Given the description of an element on the screen output the (x, y) to click on. 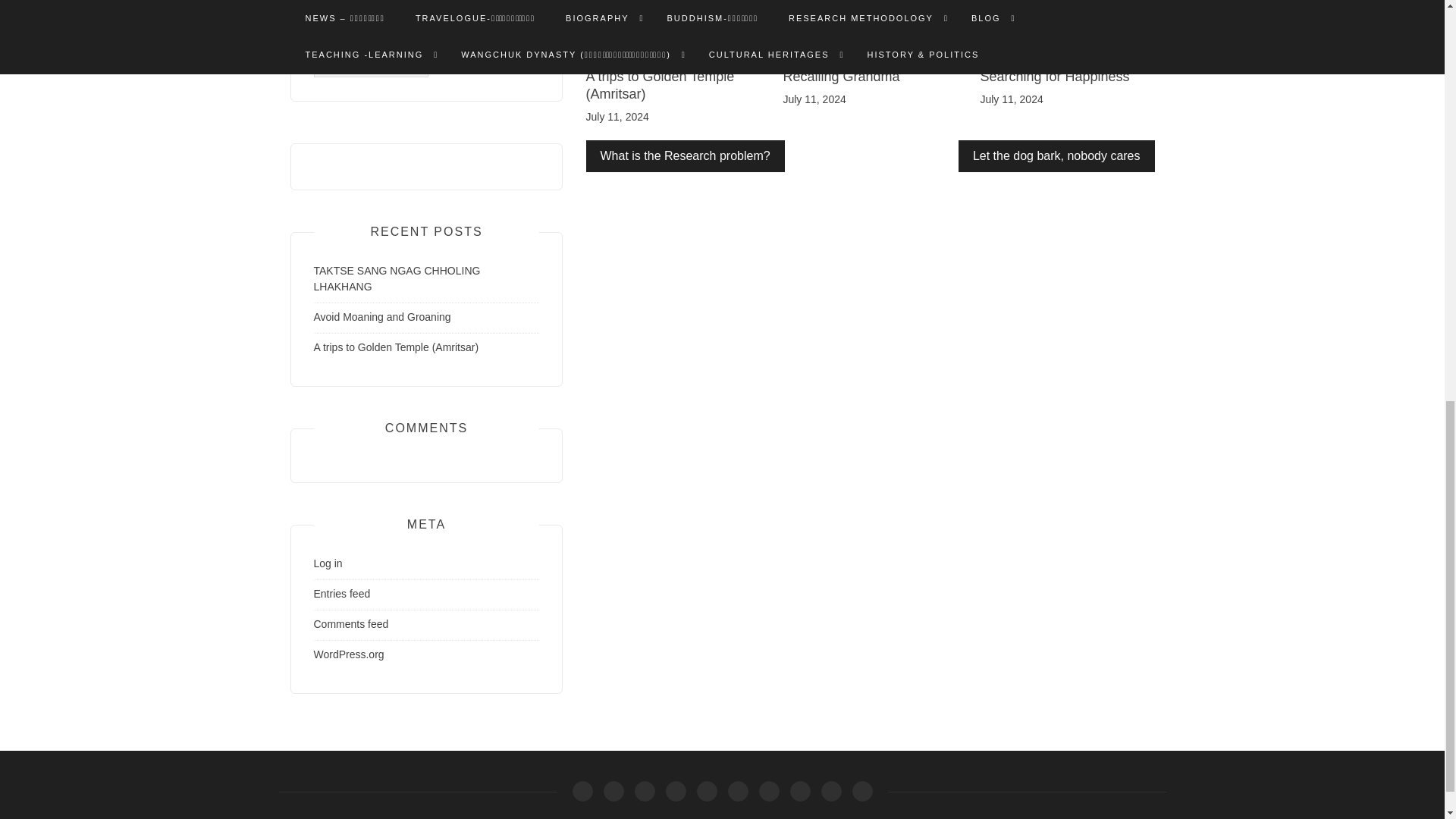
Recalling Grandma (841, 76)
Let the dog bark, nobody cares (1056, 155)
What is the Research problem? (684, 155)
Searching for Happiness (1054, 76)
